Given the description of an element on the screen output the (x, y) to click on. 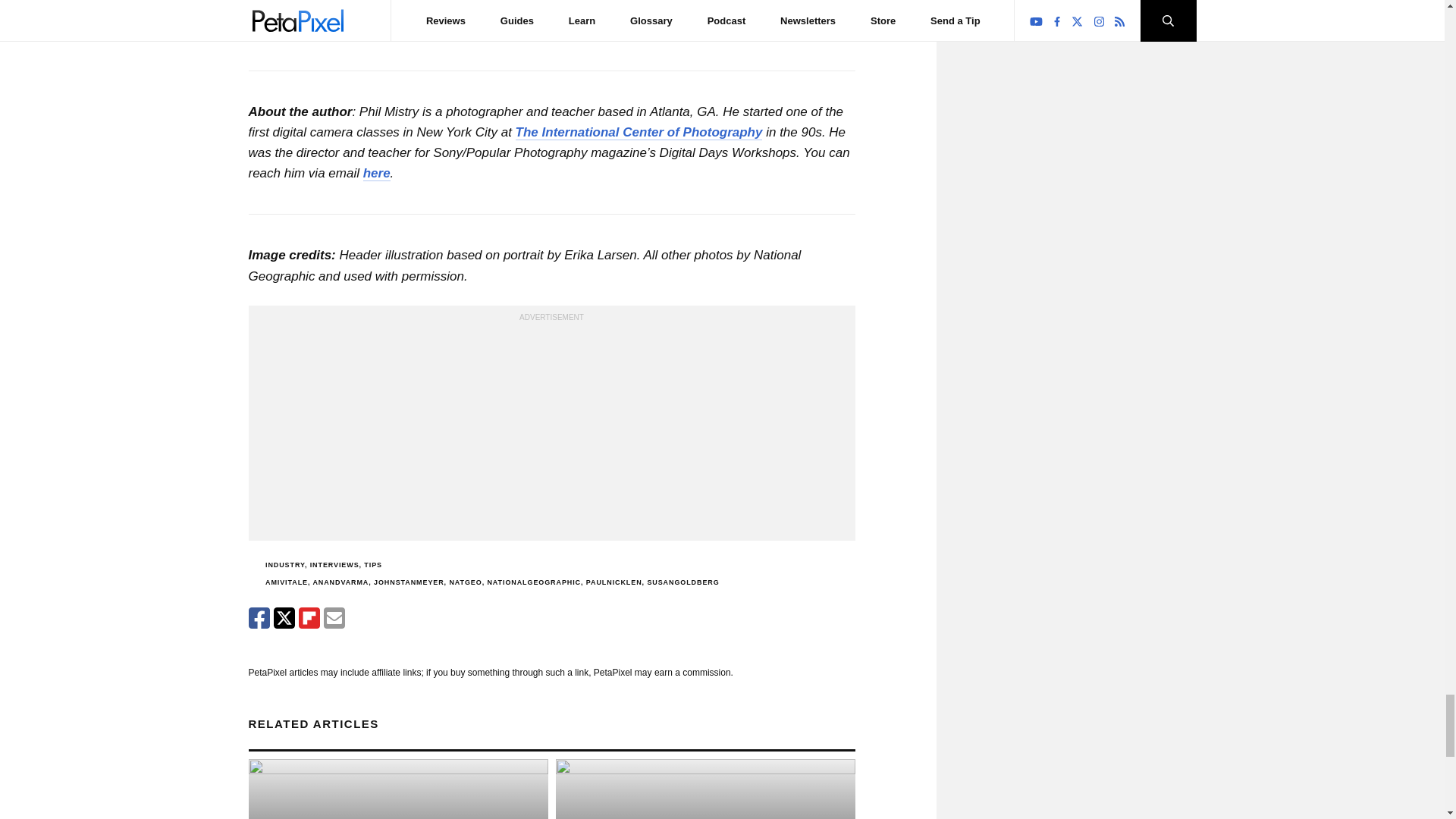
Share on X (283, 617)
Share on Flipboard (309, 617)
Share on facebook (258, 617)
Day to Night images (440, 29)
Email this article (333, 617)
